Given the description of an element on the screen output the (x, y) to click on. 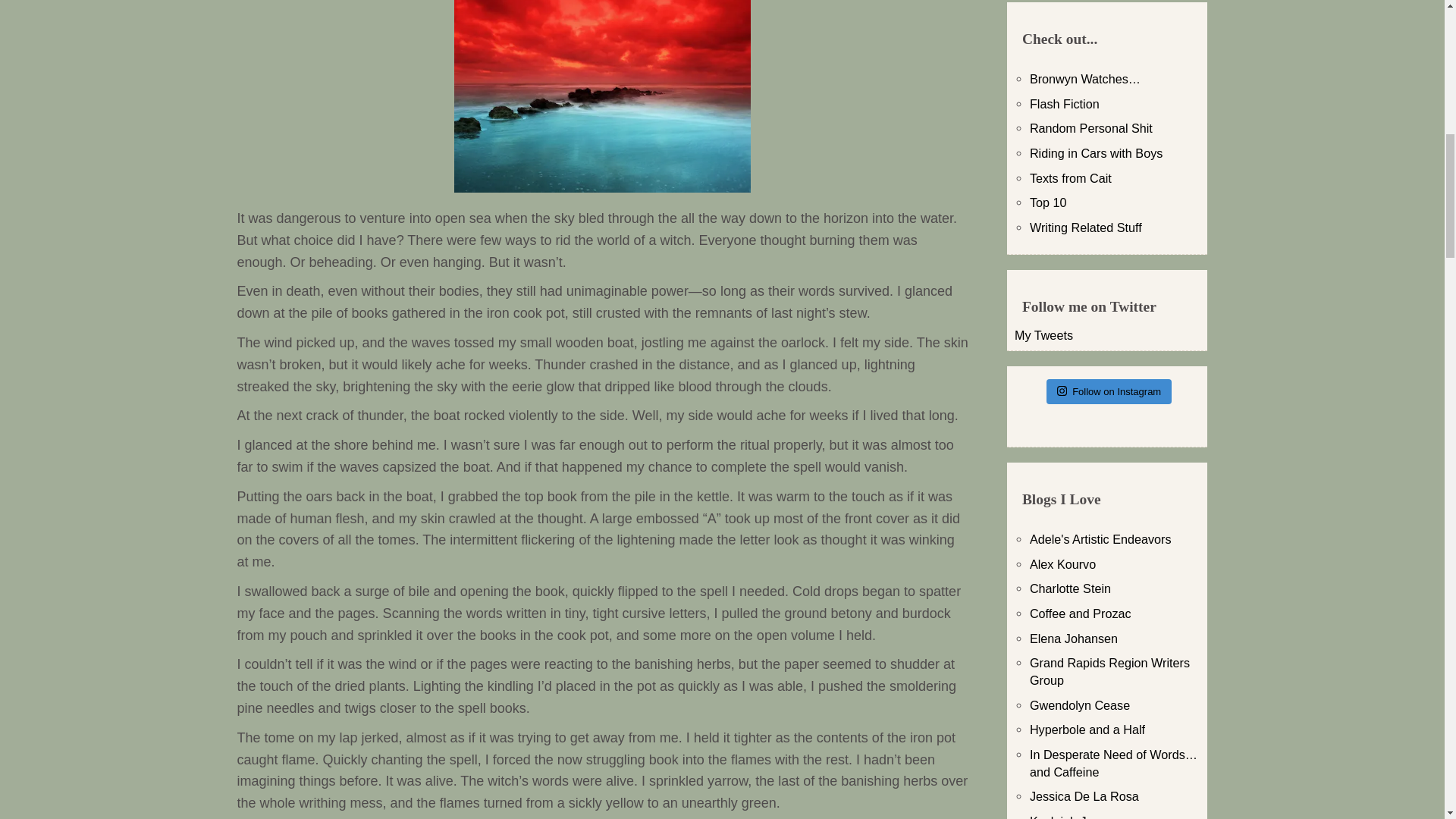
Sign up! (1350, 191)
